Given the description of an element on the screen output the (x, y) to click on. 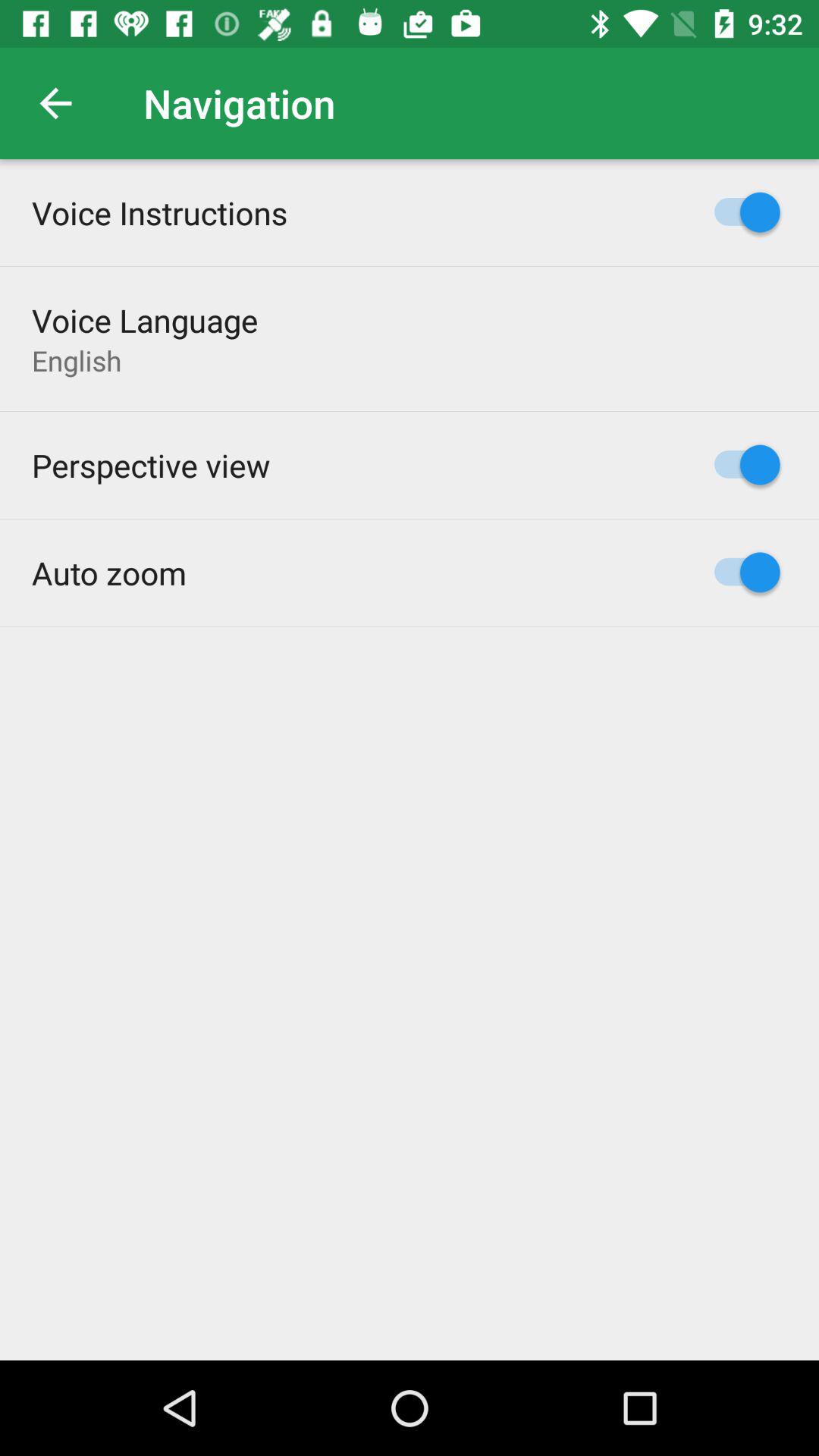
launch the icon next to the navigation item (55, 103)
